Given the description of an element on the screen output the (x, y) to click on. 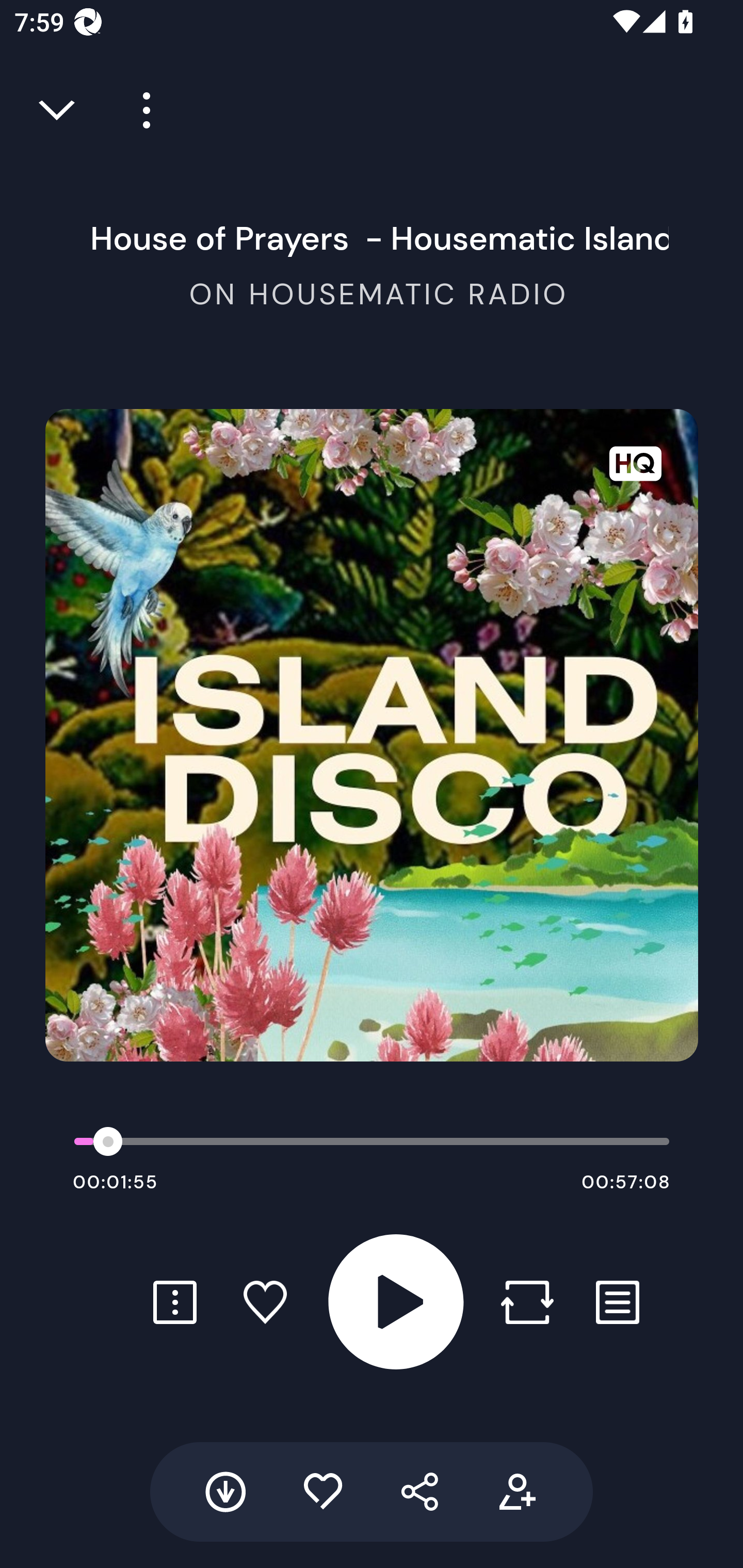
Close full player (58, 110)
Player more options button (139, 110)
Repost button (527, 1301)
